Given the description of an element on the screen output the (x, y) to click on. 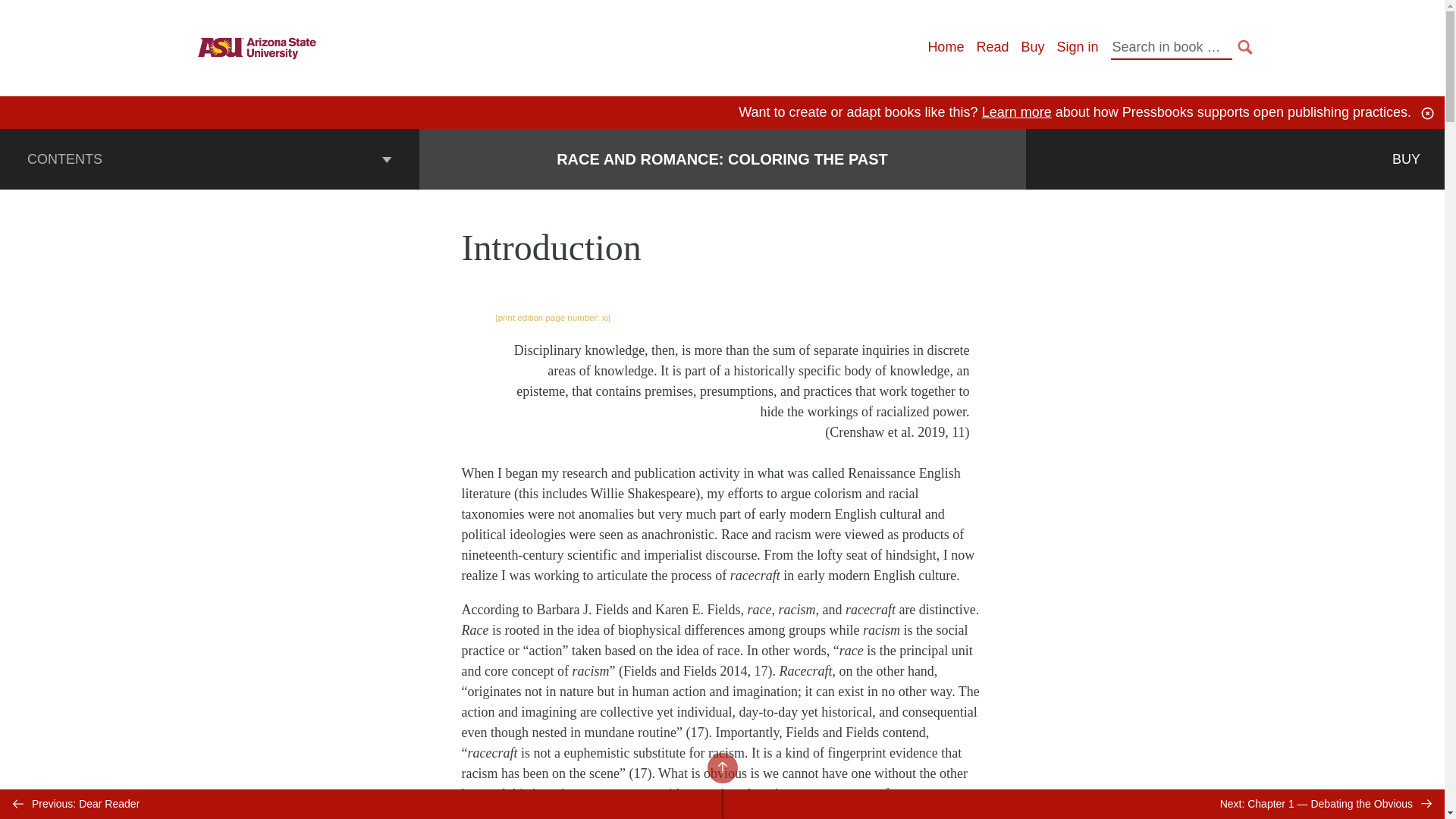
BUY (1406, 158)
Previous: Dear Reader (361, 804)
Previous: Dear Reader (361, 804)
Home (945, 46)
RACE AND ROMANCE: COLORING THE PAST (722, 159)
Buy (1031, 46)
Sign in (1077, 46)
Read (992, 46)
CONTENTS (209, 158)
Learn more (1016, 111)
BACK TO TOP (721, 767)
